Given the description of an element on the screen output the (x, y) to click on. 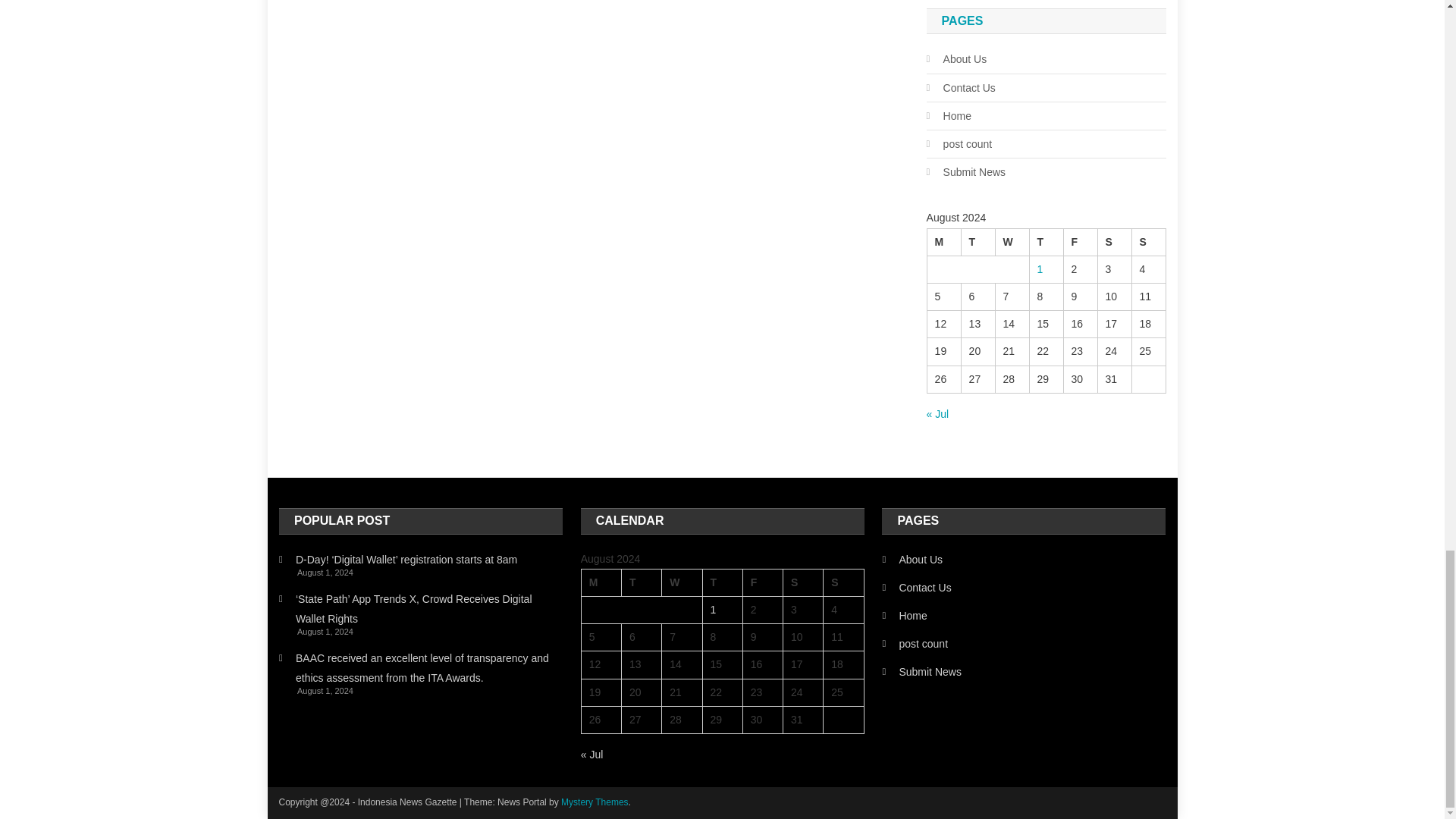
Wednesday (681, 582)
Thursday (1045, 241)
Tuesday (977, 241)
Monday (943, 241)
Wednesday (1011, 241)
Friday (762, 582)
Saturday (1114, 241)
Tuesday (641, 582)
Thursday (721, 582)
Sunday (843, 582)
Sunday (1148, 241)
Friday (1079, 241)
Saturday (803, 582)
Monday (600, 582)
